Given the description of an element on the screen output the (x, y) to click on. 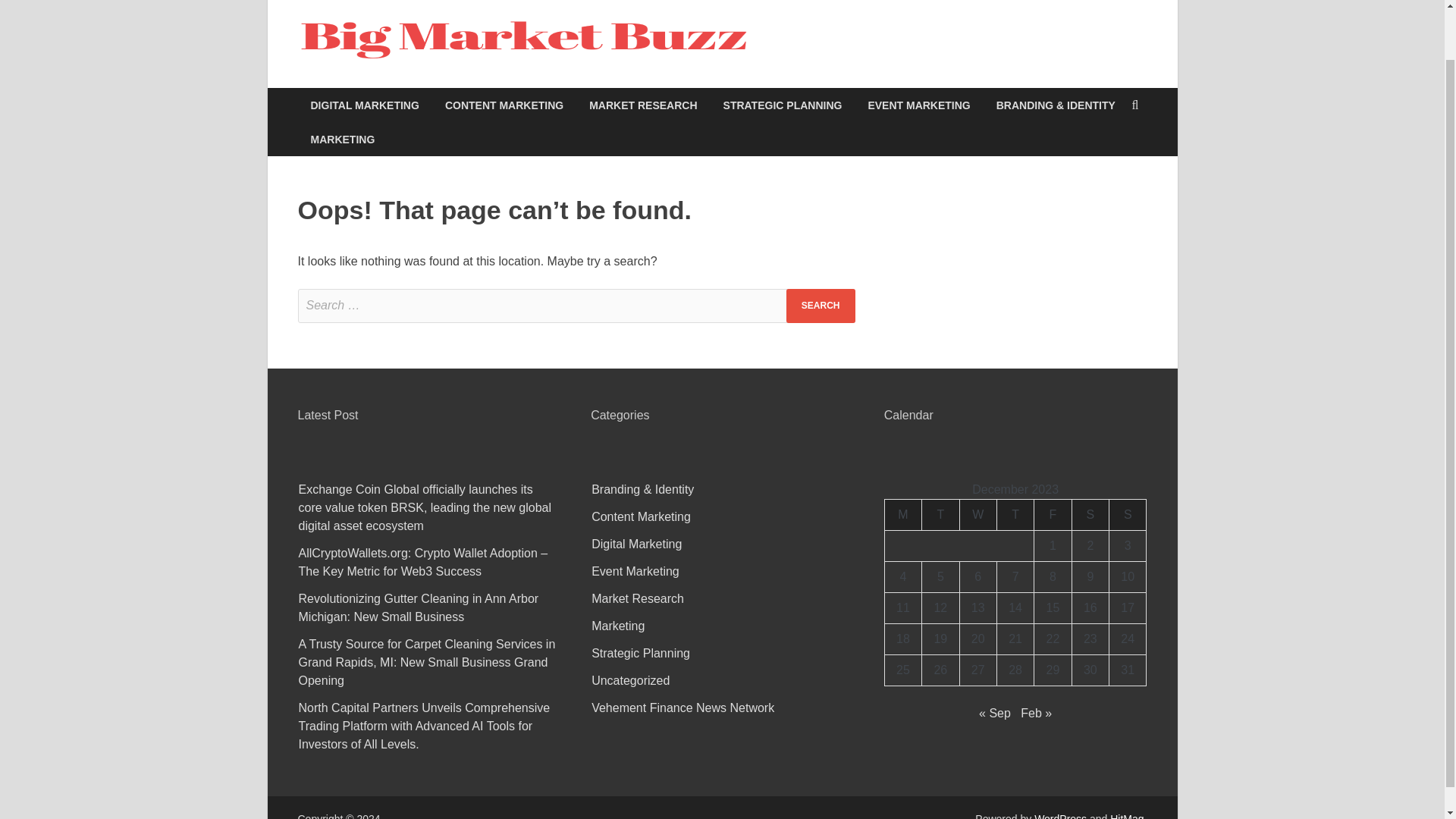
STRATEGIC PLANNING (783, 104)
CONTENT MARKETING (504, 104)
MARKET RESEARCH (643, 104)
Wednesday (977, 513)
Search (821, 305)
DIGITAL MARKETING (363, 104)
Thursday (1014, 513)
Sunday (1128, 513)
Tuesday (940, 513)
